Given the description of an element on the screen output the (x, y) to click on. 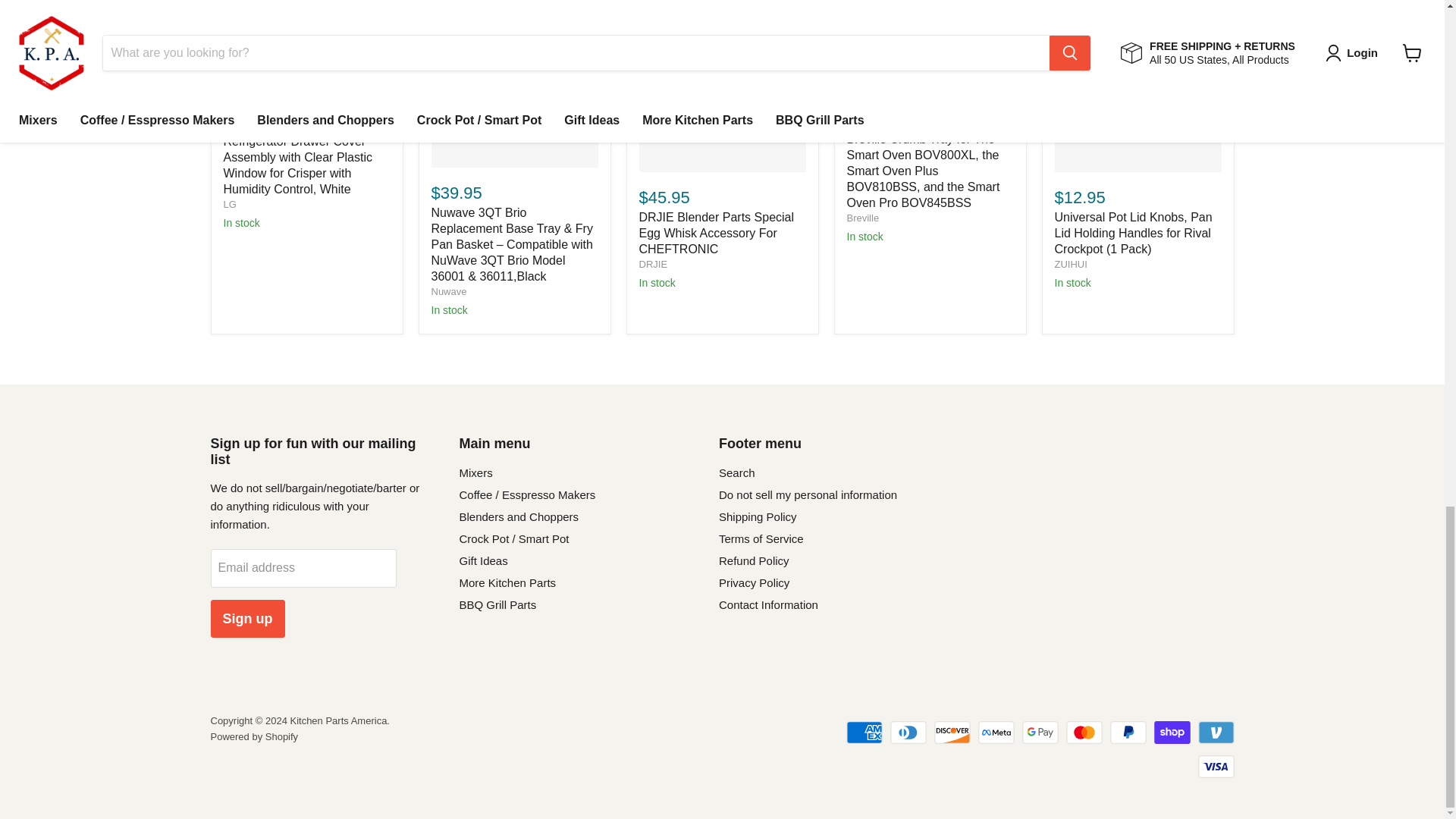
Discover (952, 732)
Nuwave (447, 291)
American Express (863, 732)
ZUIHUI (1070, 264)
Meta Pay (996, 732)
Diners Club (907, 732)
DRJIE (652, 264)
LG (228, 204)
Google Pay (1040, 732)
Mastercard (1083, 732)
Breville (862, 217)
